Given the description of an element on the screen output the (x, y) to click on. 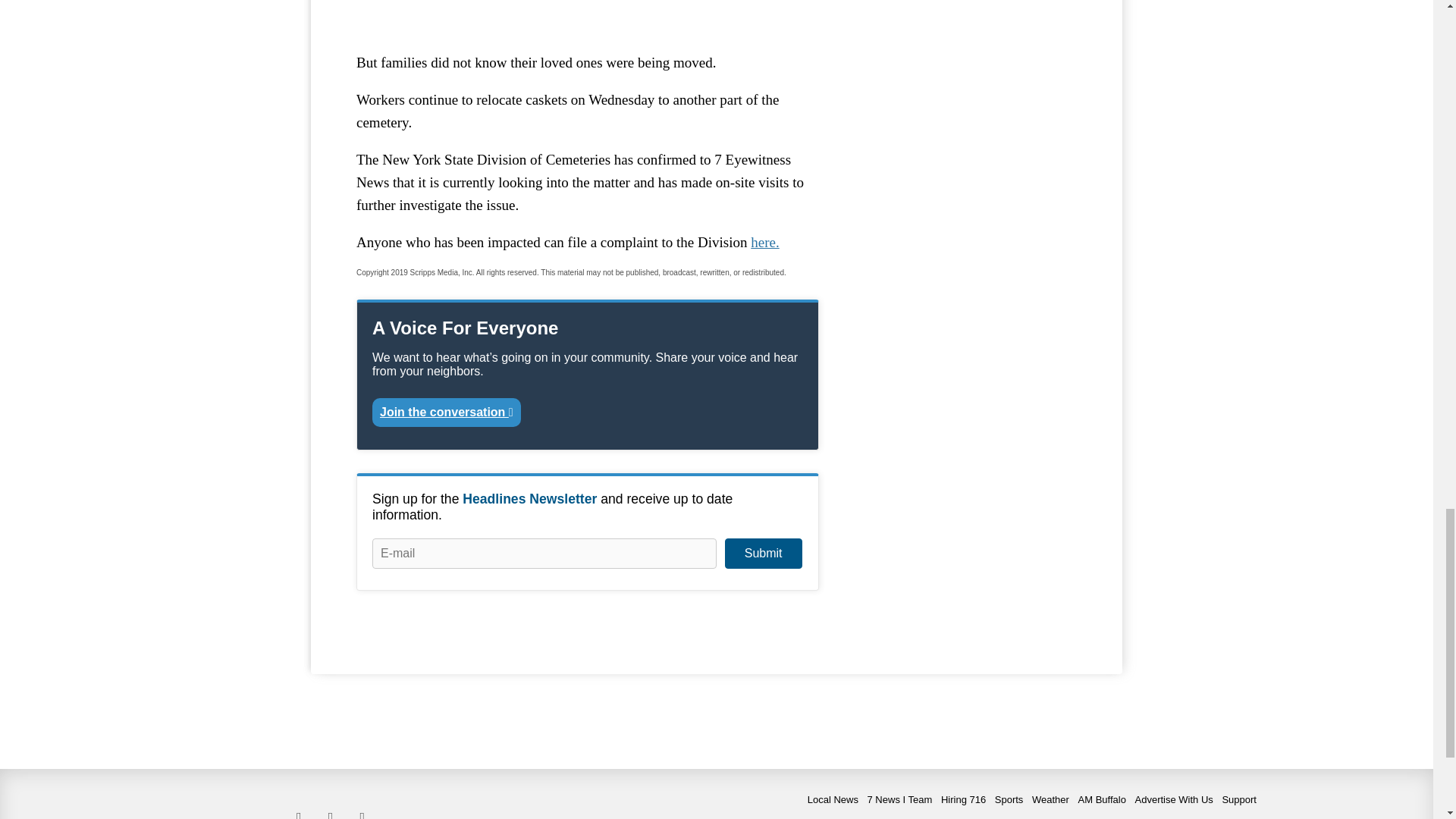
3rd party ad content (587, 12)
Submit (763, 553)
